Given the description of an element on the screen output the (x, y) to click on. 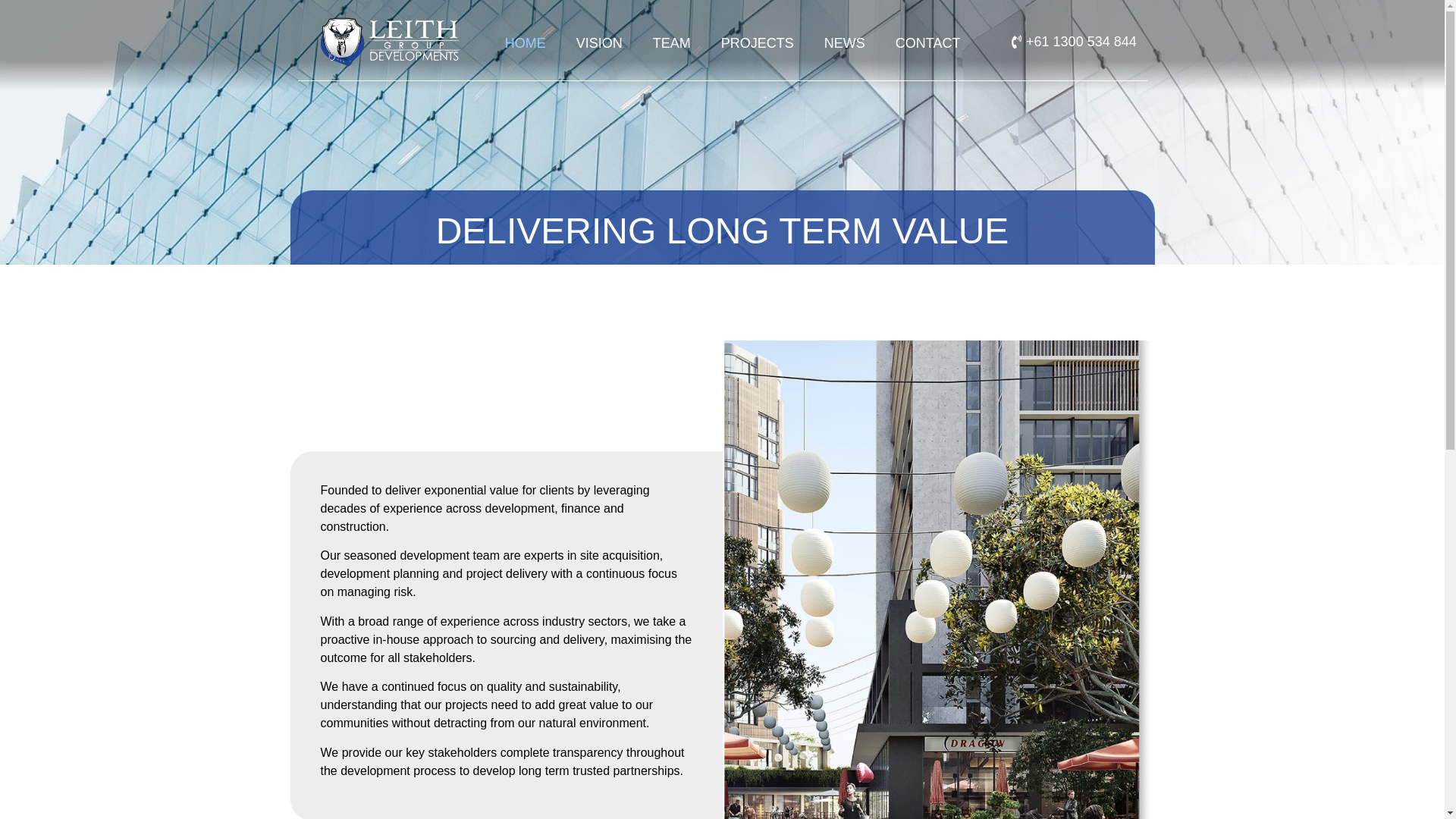
VISION Element type: text (599, 42)
PROJECTS Element type: text (757, 42)
CONTACT Element type: text (927, 42)
HOME Element type: text (525, 42)
+61 1300 534 844 Element type: text (1073, 41)
NEWS Element type: text (844, 42)
TEAM Element type: text (671, 42)
